Given the description of an element on the screen output the (x, y) to click on. 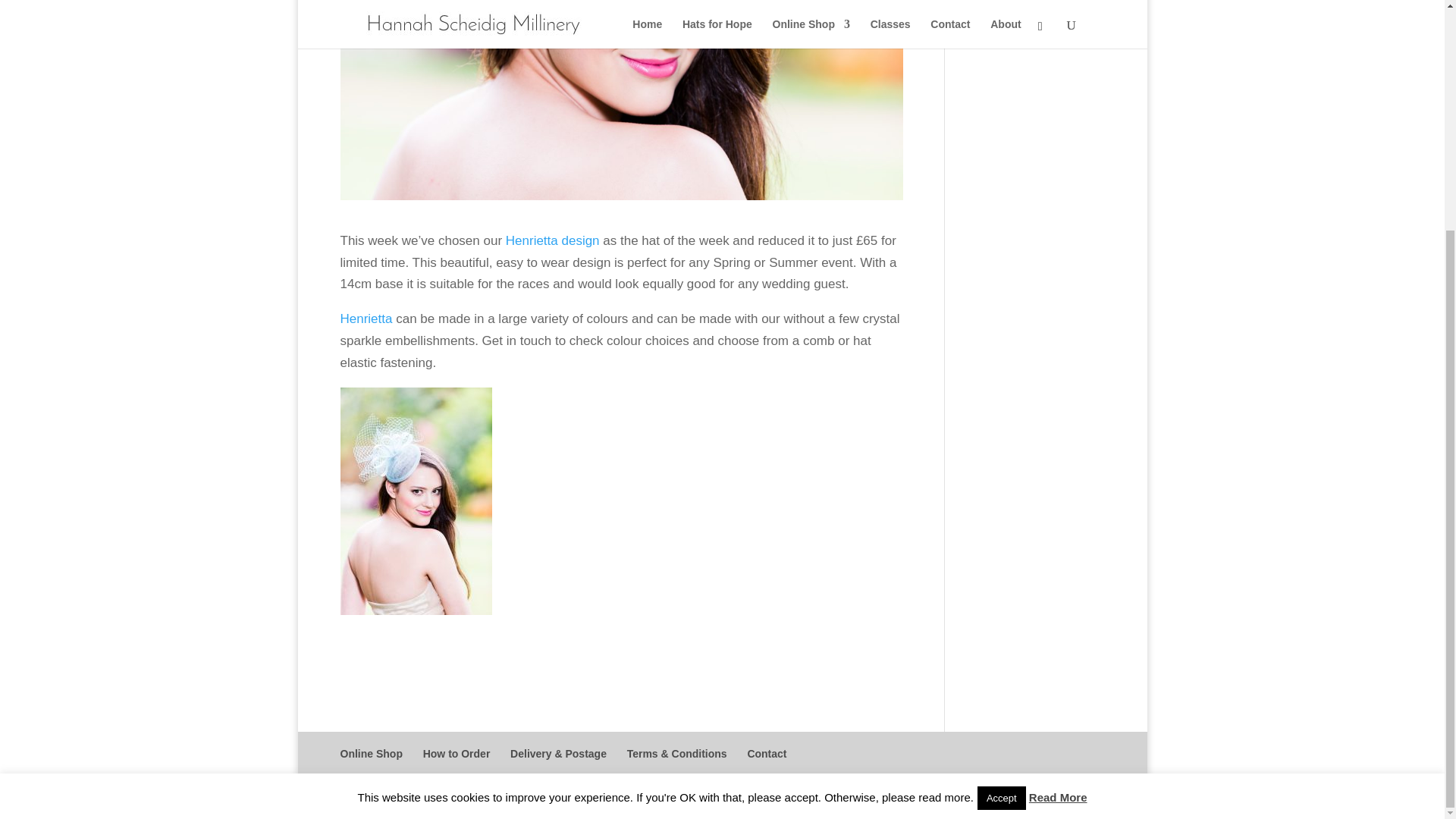
Henrietta design (552, 240)
How to Order (456, 753)
Contact (766, 753)
Read More (1058, 486)
Accept (1001, 486)
Online Shop (370, 753)
Henrietta (365, 318)
